Given the description of an element on the screen output the (x, y) to click on. 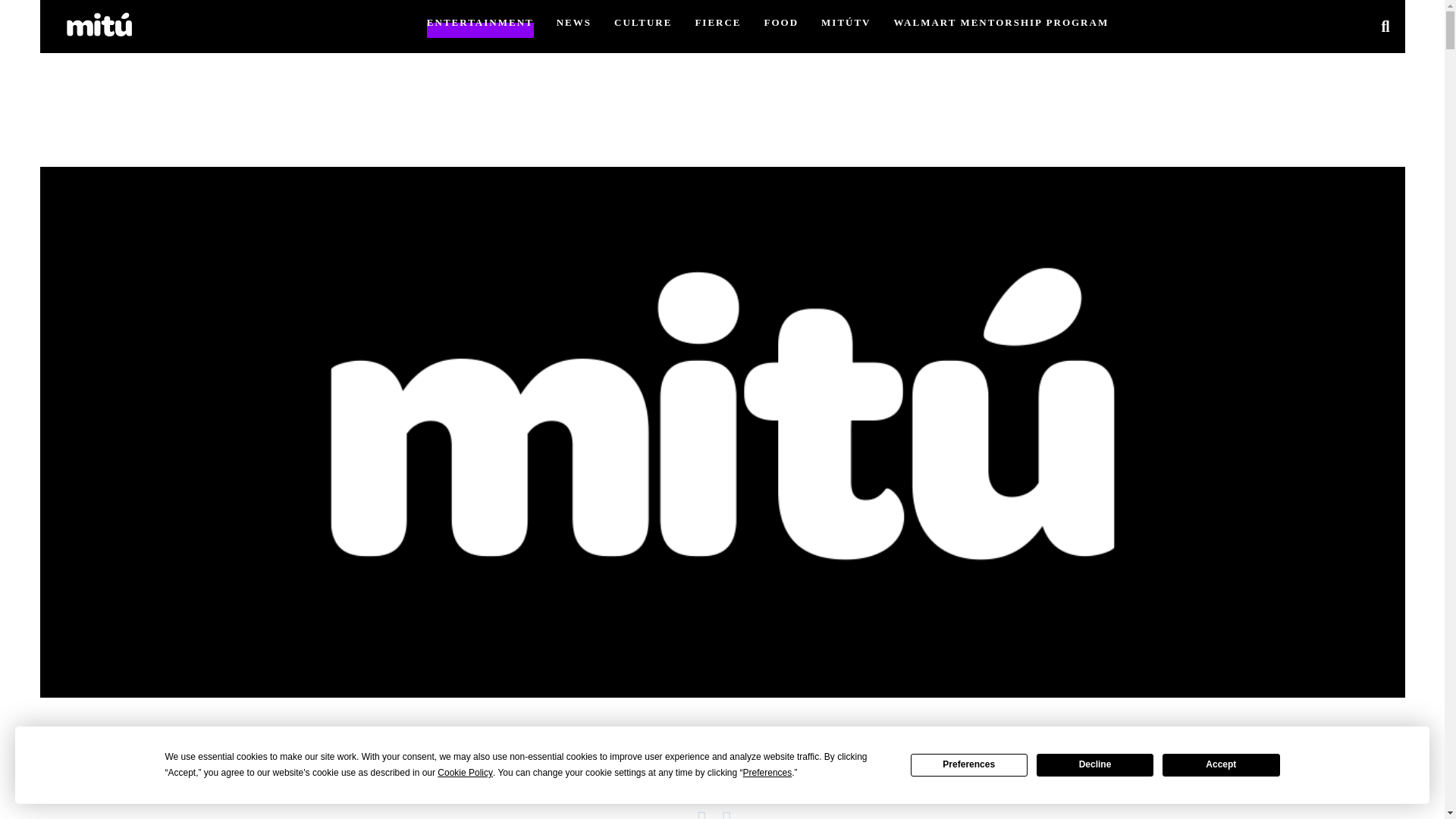
Preferences (969, 765)
Preferences (767, 772)
CULTURE (642, 21)
Share on Facebook (709, 813)
NEWS (573, 21)
DIEGO ANDRADE (675, 776)
FIERCE (717, 21)
WALMART MENTORSHIP PROGRAM (1001, 21)
3rd party ad content (721, 79)
Accept (1220, 765)
3rd party ad content (721, 784)
FOOD (781, 21)
Posts by Diego Andrade (675, 776)
ENTERTAINMENT (480, 21)
Cookie Policy (465, 772)
